Given the description of an element on the screen output the (x, y) to click on. 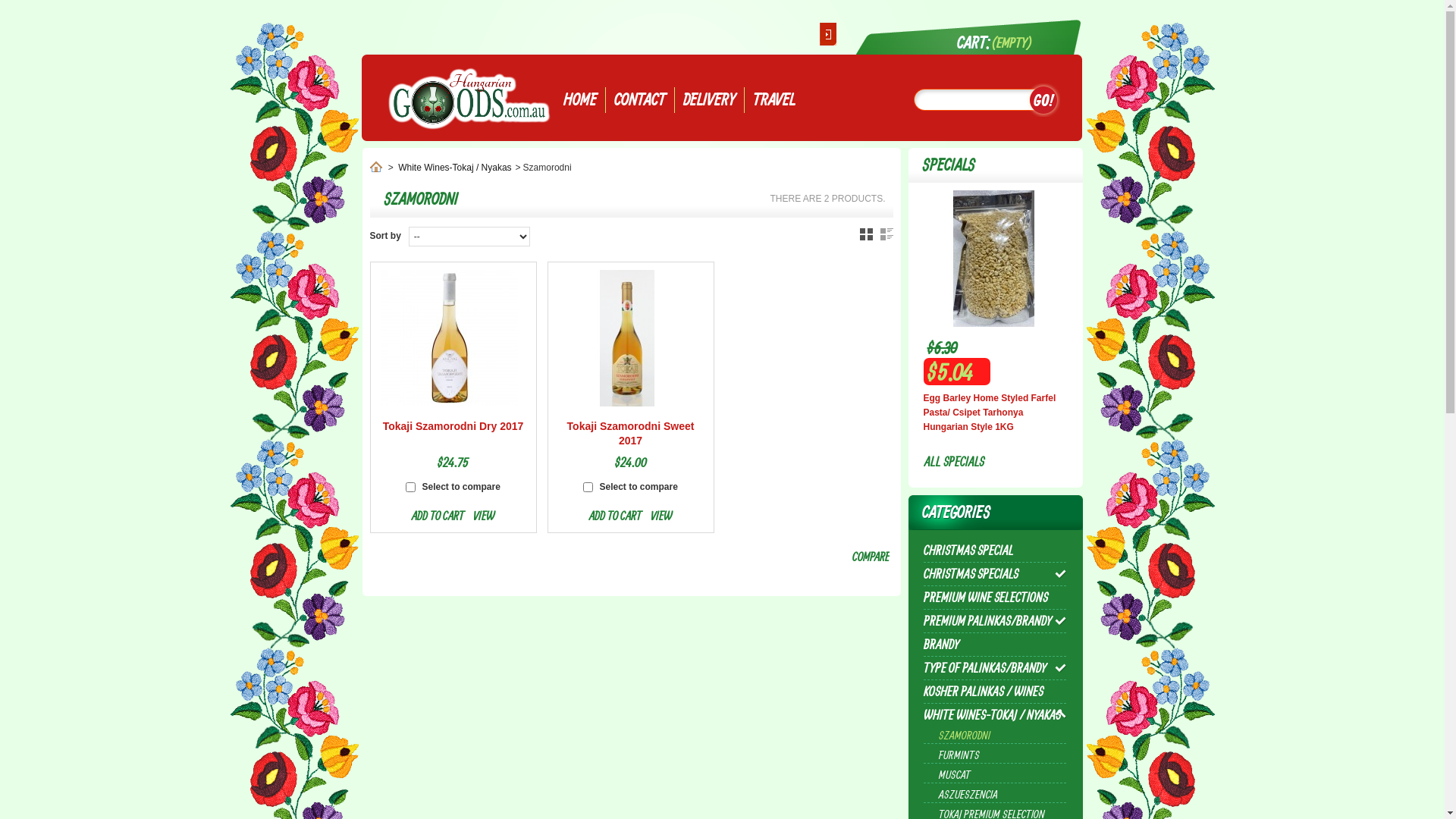
HOME Element type: text (579, 100)
Tokaji Szamorodni Sweet 2017 Element type: hover (626, 337)
TRAVEL Element type: text (774, 100)
ALL SPECIALS Element type: text (953, 461)
Tokaji Szamorodni Dry 2017 Element type: hover (448, 337)
TYPE OF PALINKAS/BRANDY Element type: text (984, 667)
WHITE WINES-TOKAJ / NYAKAS Element type: text (991, 714)
MUSCAT Element type: text (954, 774)
Login Element type: hover (827, 33)
Hungarian Goods Element type: hover (468, 98)
BRANDY Element type: text (941, 644)
Tokaji Szamorodni Dry 2017 Element type: text (453, 426)
Tokaji Szamorodni Sweet 2017 Element type: text (630, 433)
KOSHER PALINKAS / WINES Element type: text (983, 691)
DELIVERY Element type: text (709, 100)
ASZUESZENCIA Element type: text (967, 793)
CHRISTMAS SPECIALS Element type: text (970, 573)
SPECIALS Element type: text (948, 163)
White Wines-Tokaj / Nyakas Element type: text (454, 167)
ADD TO CART Element type: text (437, 515)
SZAMORODNI Element type: text (964, 734)
CONTACT Element type: text (639, 100)
PREMIUM WINE SELECTIONS Element type: text (985, 596)
VIEW Element type: text (483, 515)
Search Element type: text (1043, 99)
Compare Element type: text (870, 556)
FURMINTS Element type: text (958, 754)
PREMIUM PALINKAS/BRANDY Element type: text (987, 620)
CHRISTMAS SPECIAL Element type: text (968, 549)
ADD TO CART Element type: text (615, 515)
VIEW Element type: text (660, 515)
return to Home Element type: hover (376, 167)
